Given the description of an element on the screen output the (x, y) to click on. 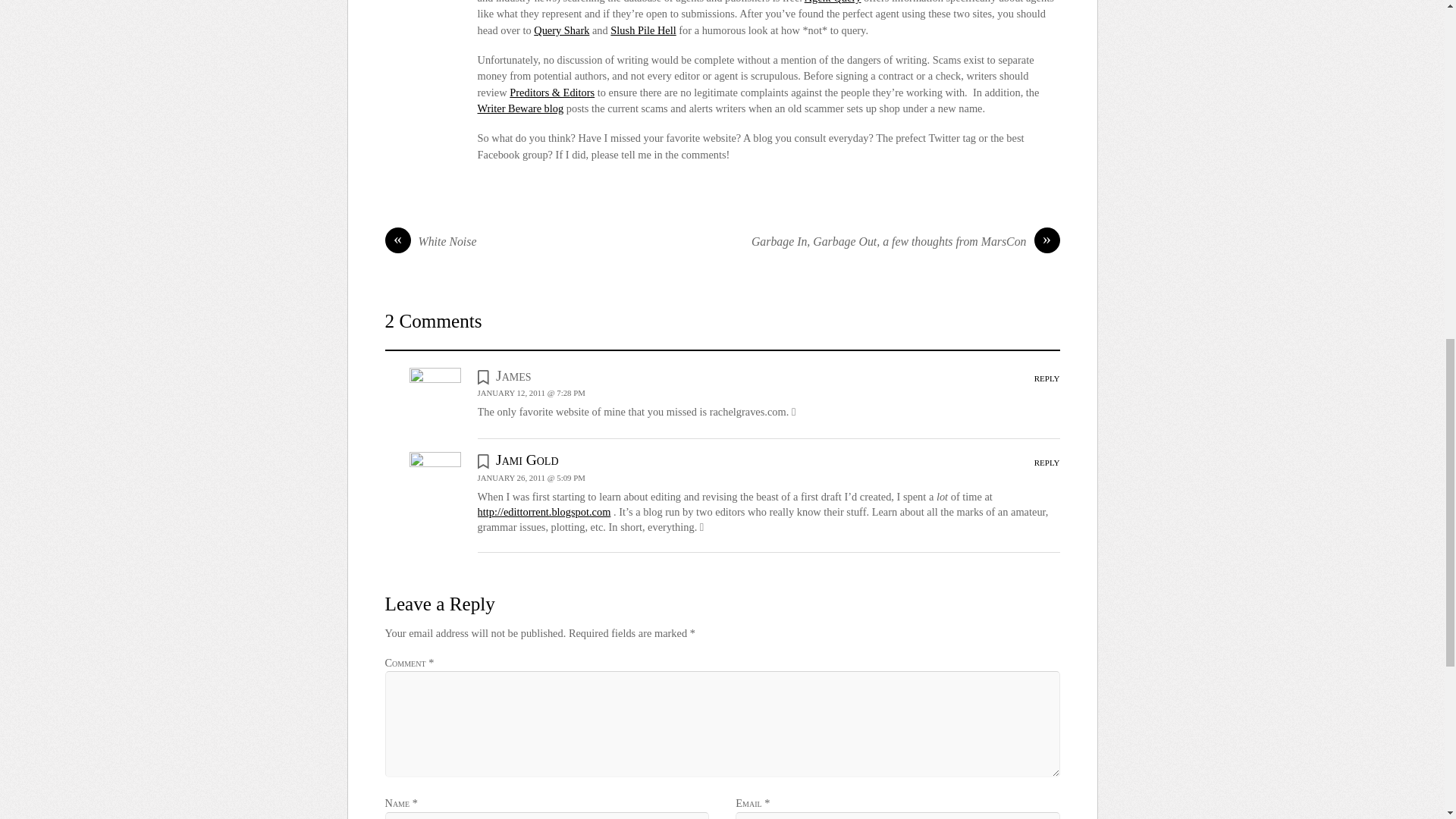
Writer Beware blog (520, 108)
Agent Query (833, 2)
REPLY (1046, 378)
Slush Pile Hell (642, 30)
Query Shark (561, 30)
Jami Gold (526, 459)
REPLY (1046, 461)
